Given the description of an element on the screen output the (x, y) to click on. 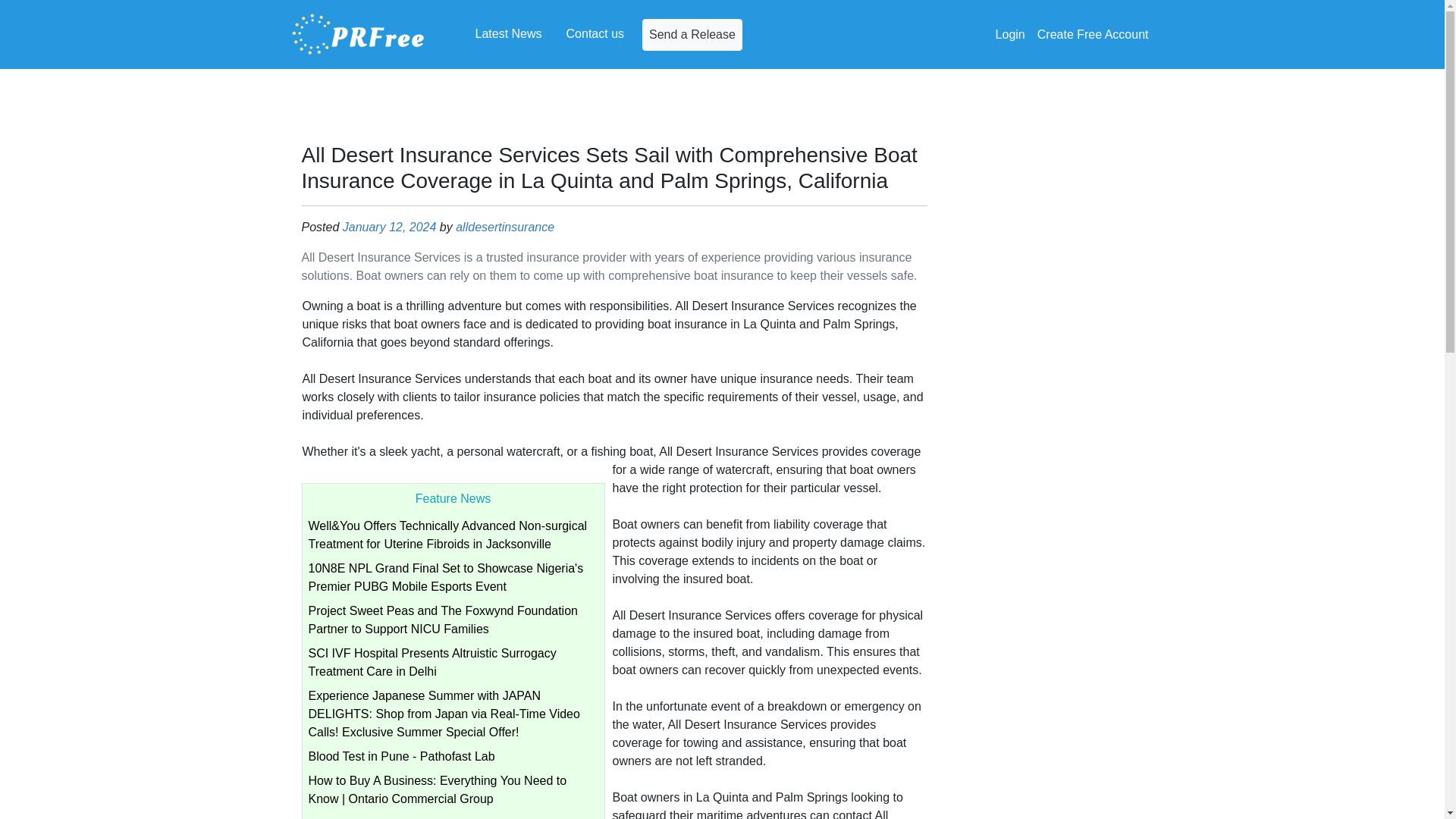
Contact us (595, 33)
PFRree (357, 34)
Send a Release (692, 33)
Login (1010, 34)
Latest News (507, 33)
alldesertinsurance (504, 226)
Blood Test in Pune - Pathofast Lab (401, 756)
